Given the description of an element on the screen output the (x, y) to click on. 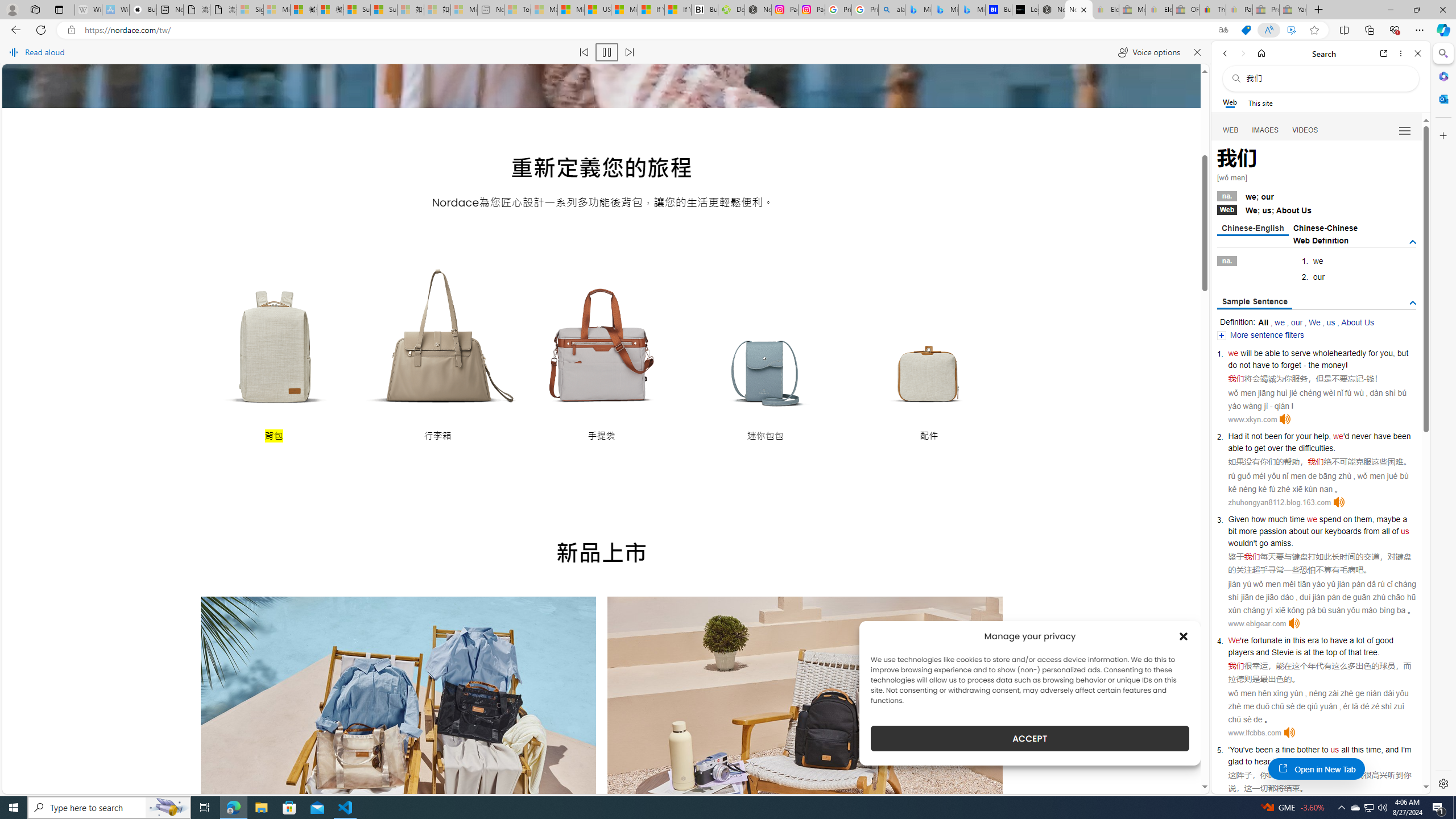
WEB (1231, 130)
You (1236, 749)
maybe (1387, 519)
Chinese-English (1252, 228)
Show translate options (1222, 29)
this (1357, 749)
is (1298, 651)
